Given the description of an element on the screen output the (x, y) to click on. 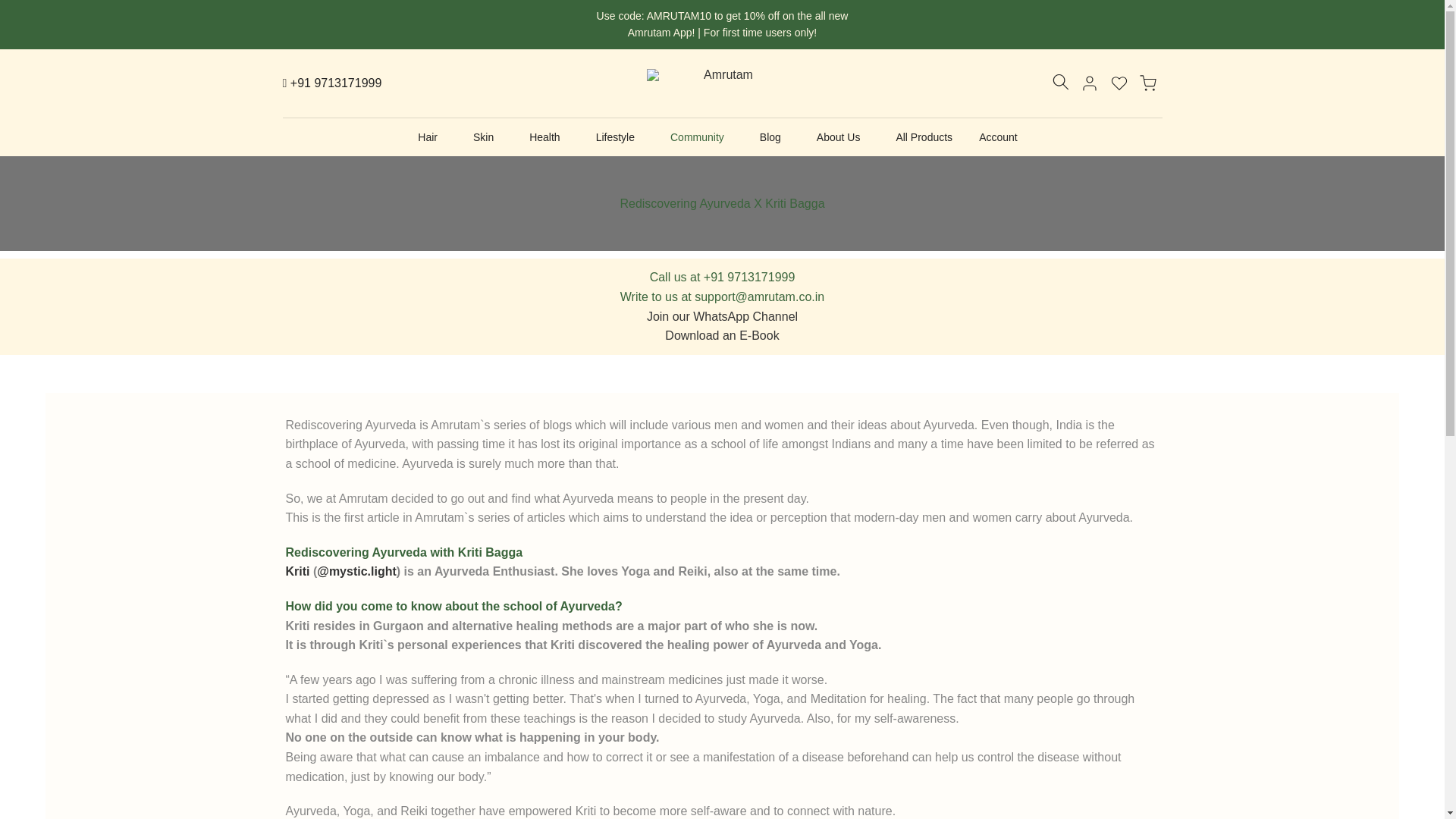
All Products (924, 136)
Download an E-Book (721, 335)
Account (1003, 136)
Skin (487, 136)
Skip to content (10, 7)
Blog (774, 136)
Kriti (296, 571)
Health (549, 136)
About Us (842, 136)
Join our WhatsApp Channel (721, 316)
Lifestyle (619, 136)
Community (700, 136)
Hair (432, 136)
